Given the description of an element on the screen output the (x, y) to click on. 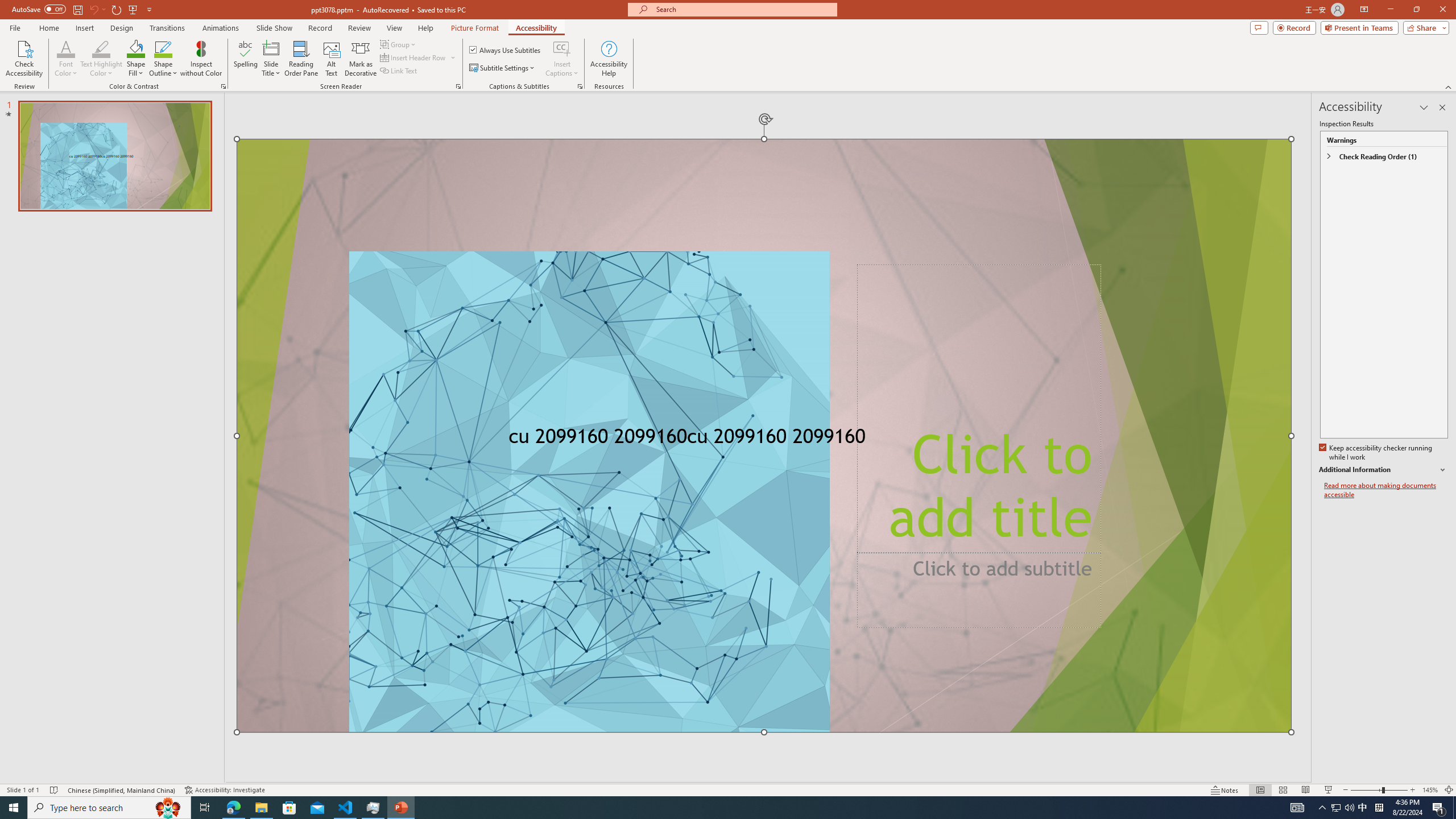
Zoom 145% (1430, 790)
